Given the description of an element on the screen output the (x, y) to click on. 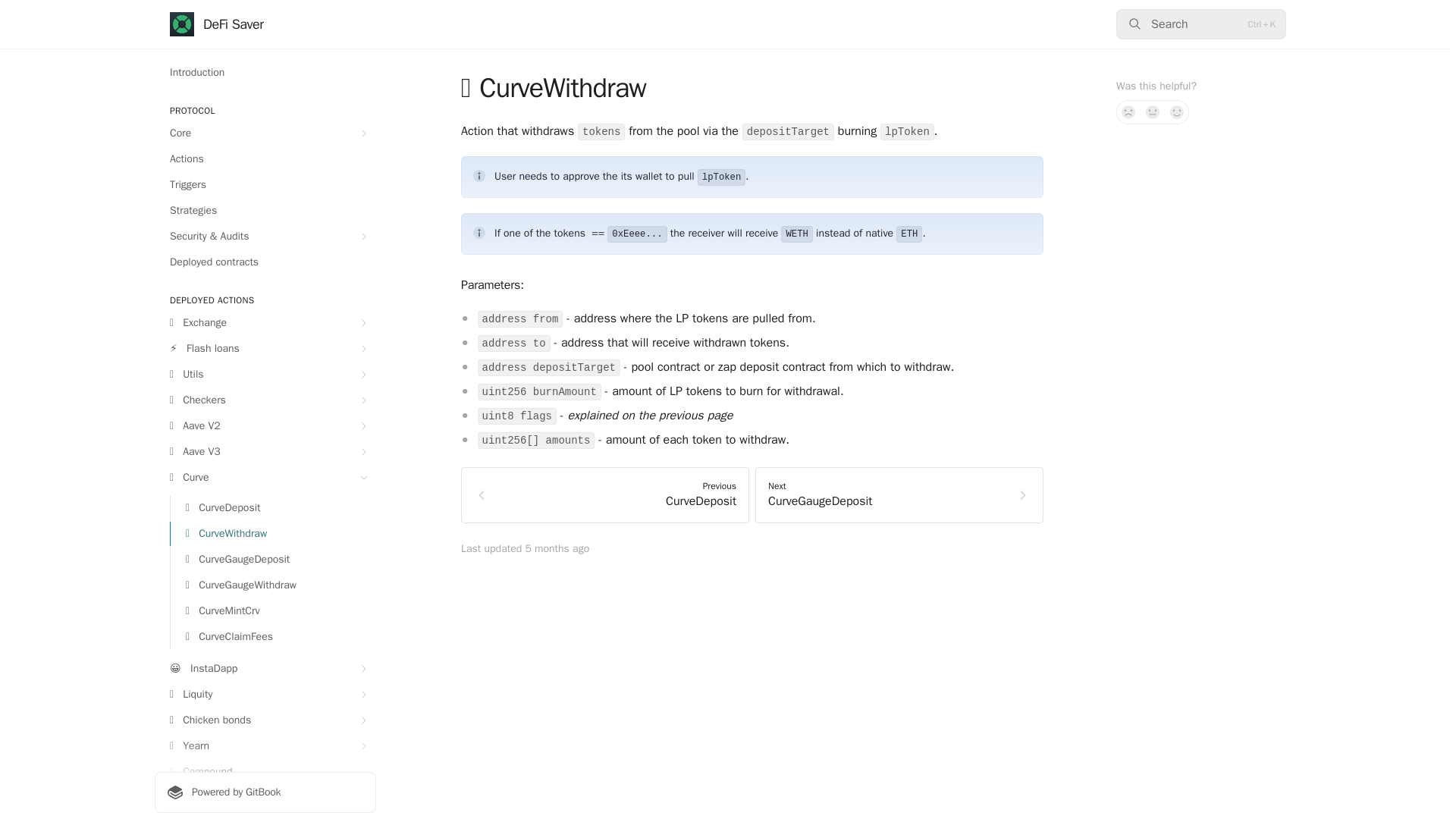
Strategies (264, 210)
Not sure (1152, 111)
Triggers (264, 184)
Introduction (264, 72)
No (1128, 111)
DeFi Saver (216, 24)
Deployed contracts (264, 262)
Actions (264, 159)
Yes, it was! (1176, 111)
Core (264, 133)
